Given the description of an element on the screen output the (x, y) to click on. 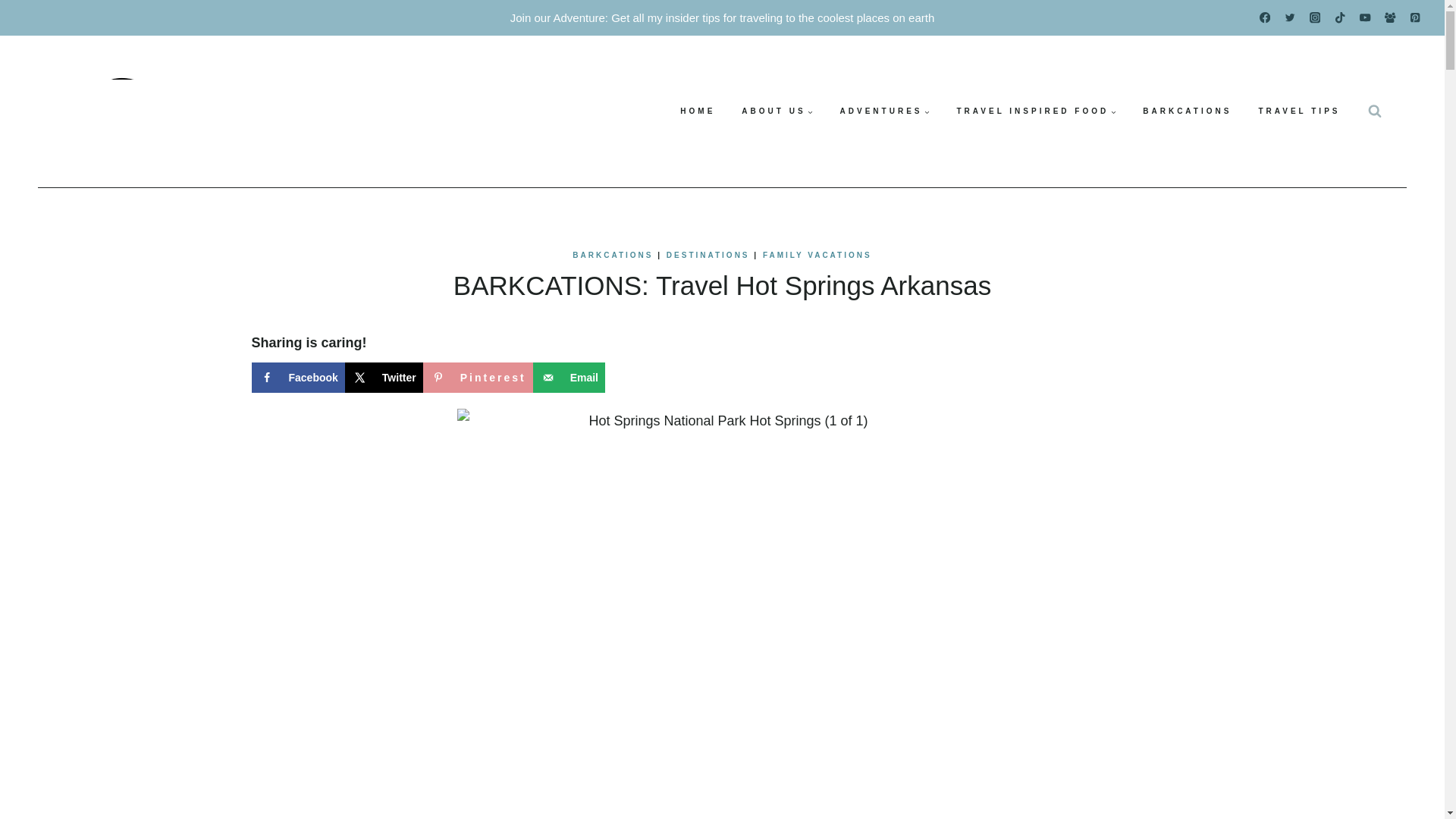
Share on Facebook (298, 377)
BARKCATIONS (612, 254)
Facebook (298, 377)
Share on X (384, 377)
Twitter (384, 377)
TRAVEL INSPIRED FOOD (1036, 111)
Send over email (568, 377)
Save to Pinterest (477, 377)
DESTINATIONS (707, 254)
Pinterest (477, 377)
FAMILY VACATIONS (817, 254)
